Given the description of an element on the screen output the (x, y) to click on. 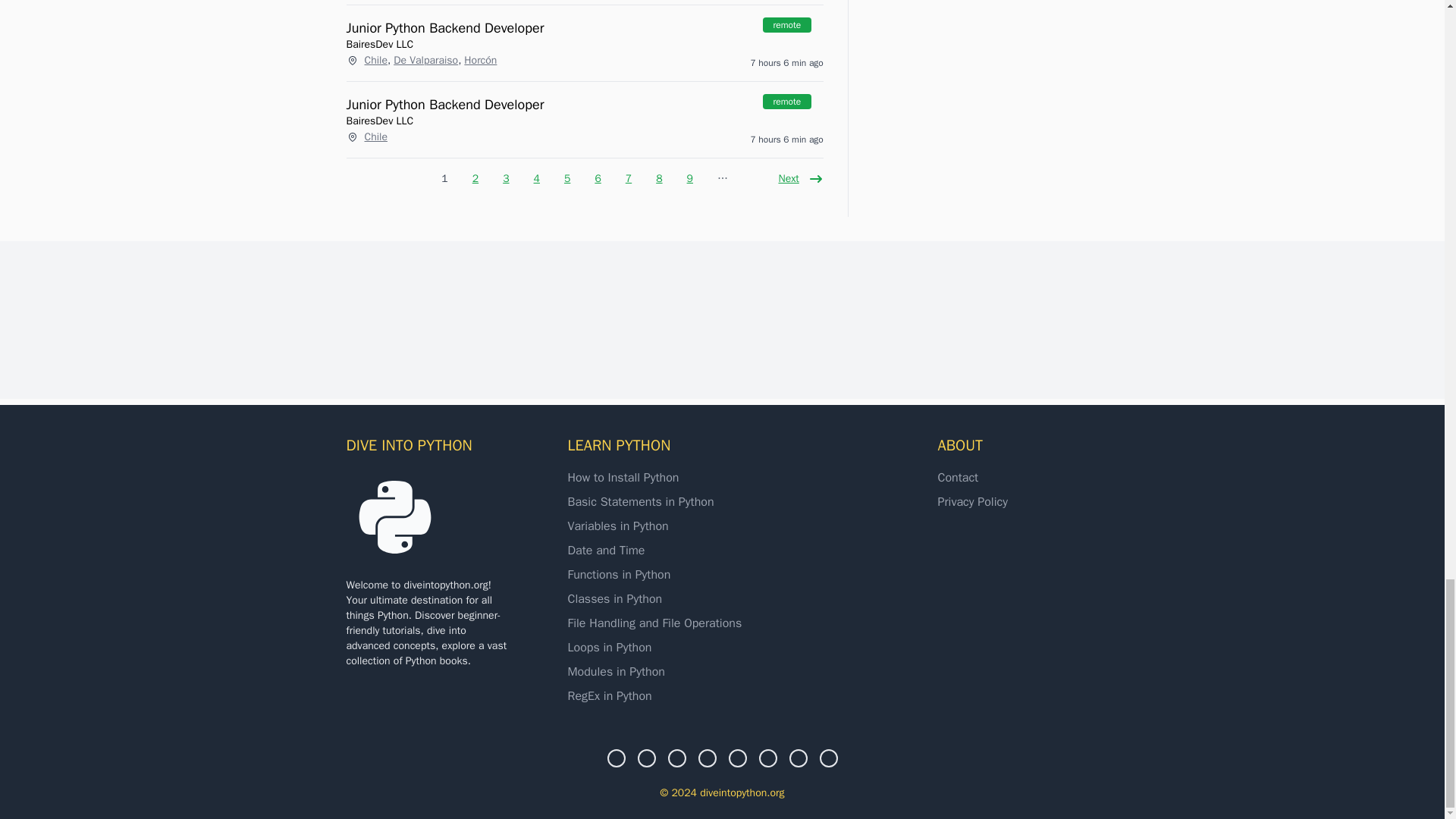
Go to page 7 (627, 172)
Go to page 6 (597, 172)
Go to page 2 (475, 172)
Go to page 5 (566, 172)
Go to next page (798, 172)
Go to page 4 (536, 172)
Go to page 3 (505, 172)
Go to page 8 (658, 172)
Go to page 9 (689, 172)
